Given the description of an element on the screen output the (x, y) to click on. 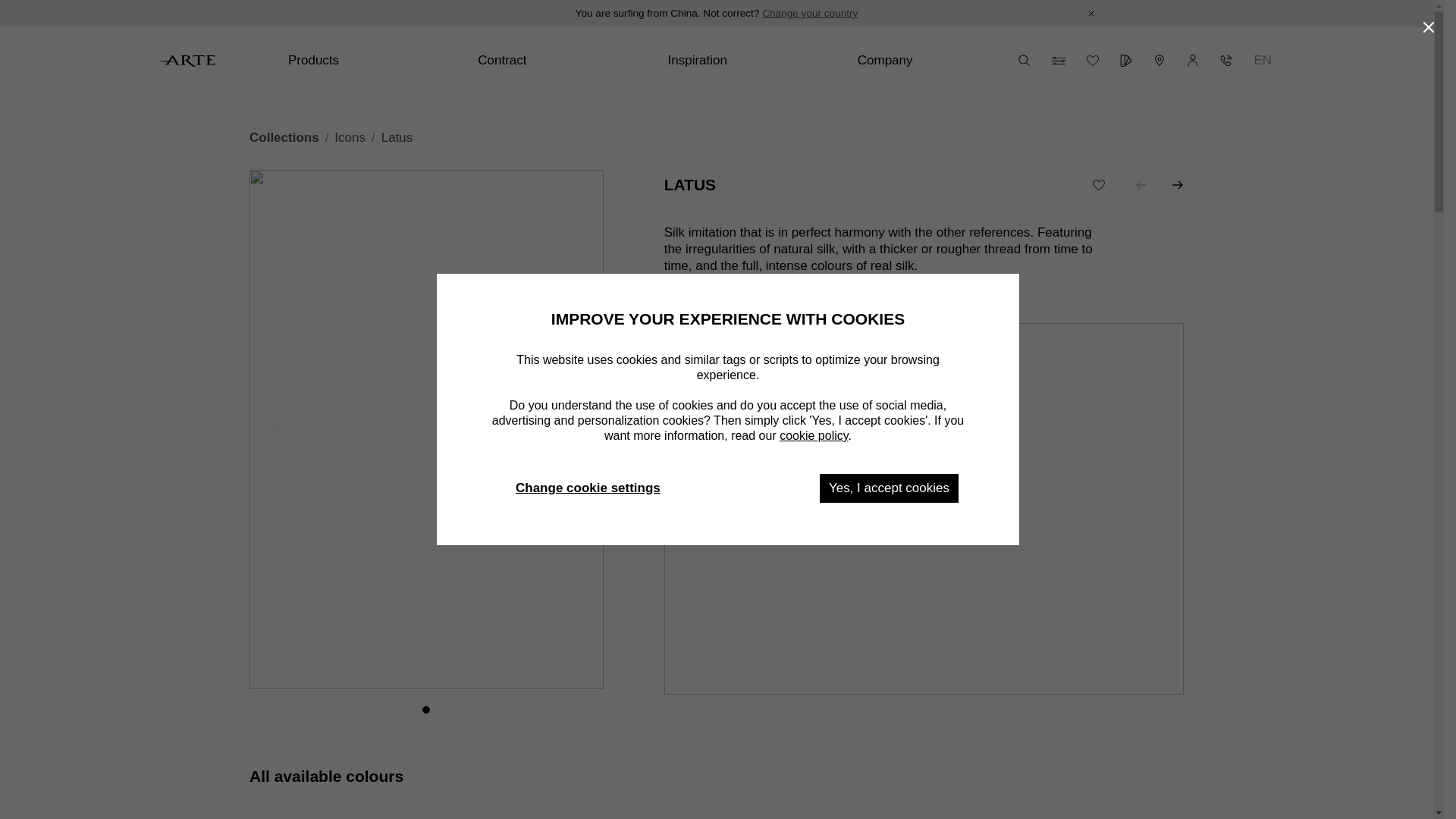
Previous Pattern (1140, 184)
Inspiration (749, 60)
Close (1091, 13)
Products (370, 60)
Go to home (186, 60)
Next Pattern (1176, 184)
Company (940, 60)
Change your country (809, 13)
EN (1262, 60)
Contract (560, 60)
